Given the description of an element on the screen output the (x, y) to click on. 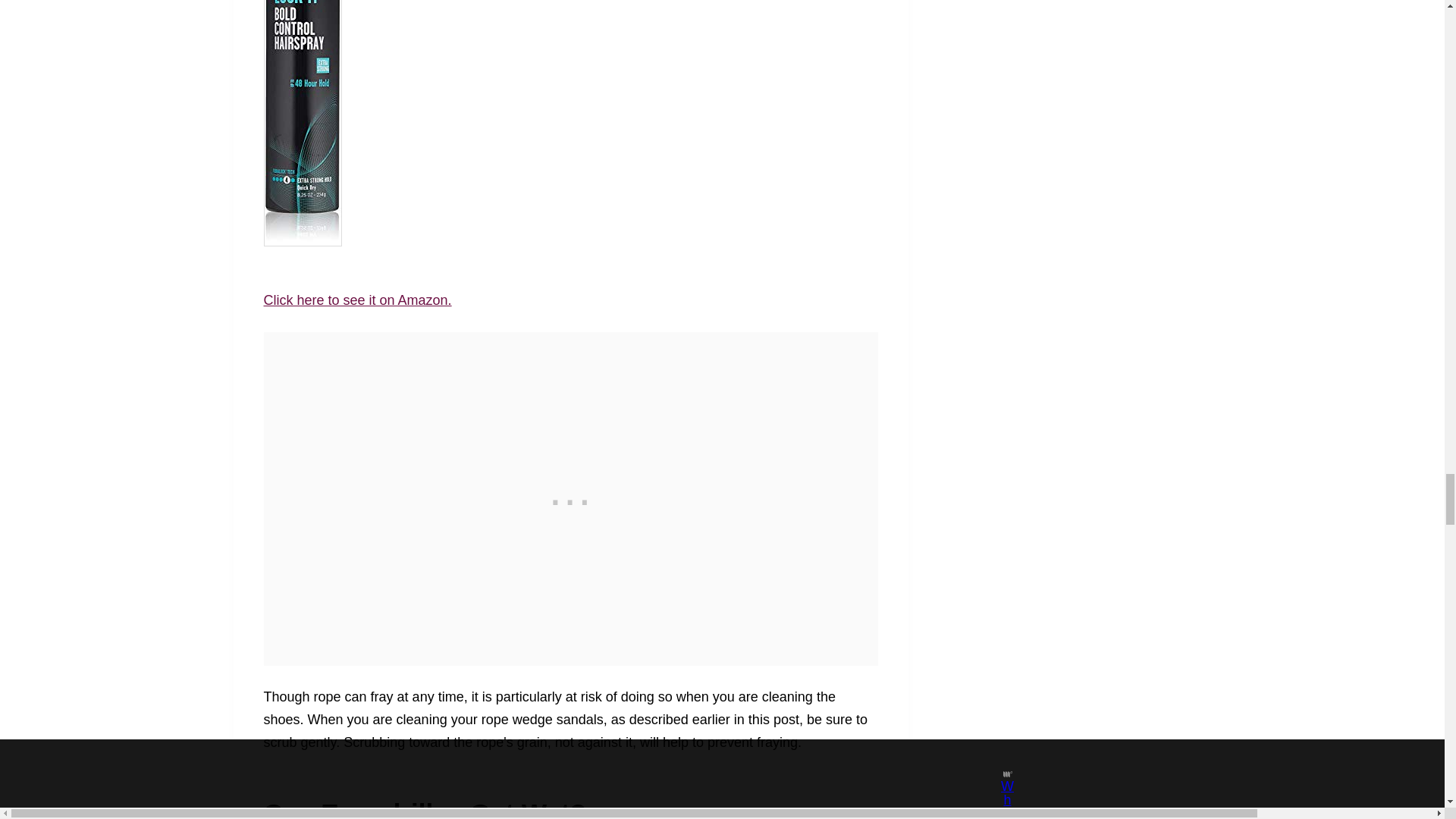
Click here to see it on Amazon. (357, 299)
